Given the description of an element on the screen output the (x, y) to click on. 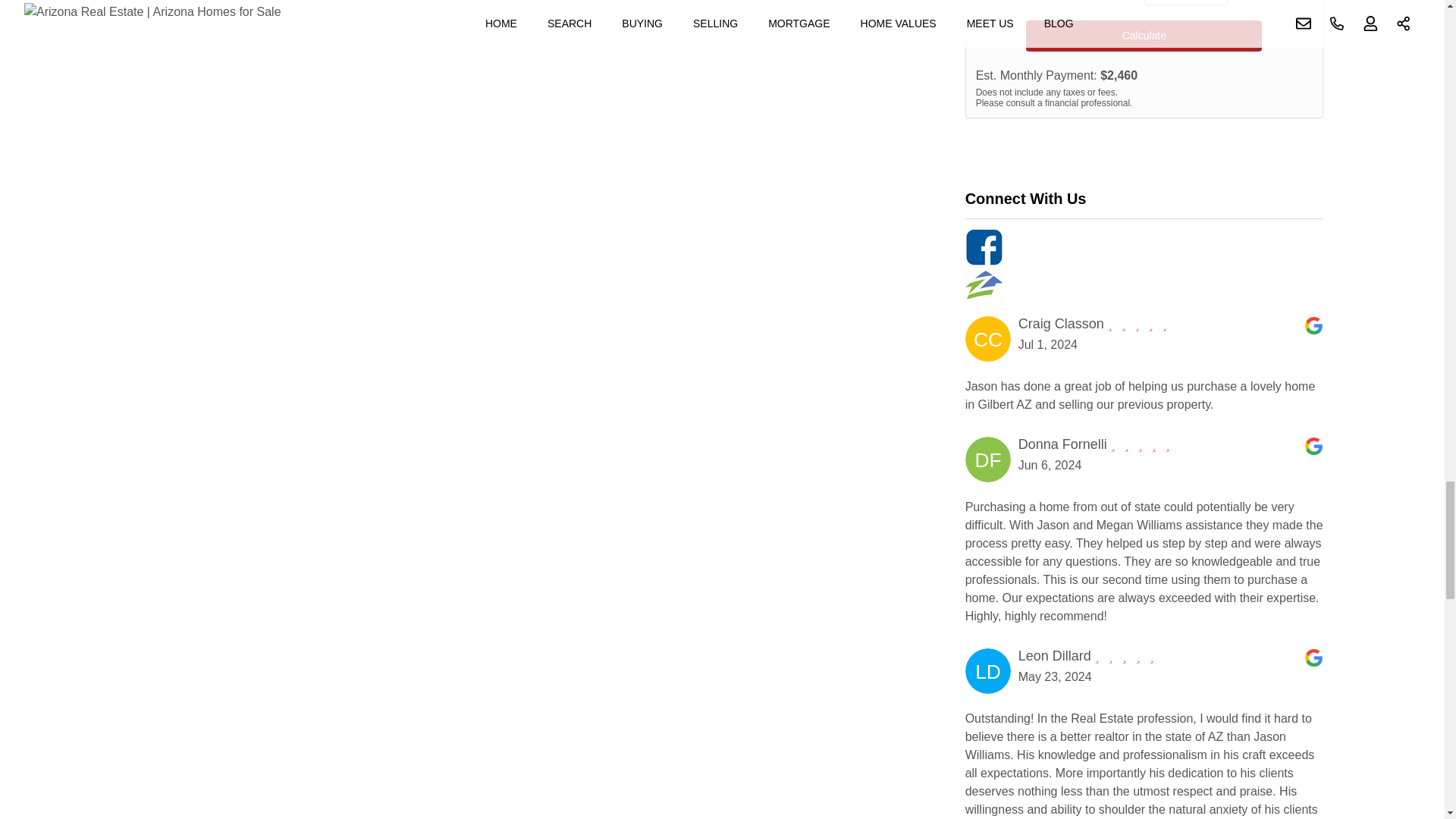
30 (1186, 2)
Zillow (1144, 284)
Facebook (1144, 247)
